Given the description of an element on the screen output the (x, y) to click on. 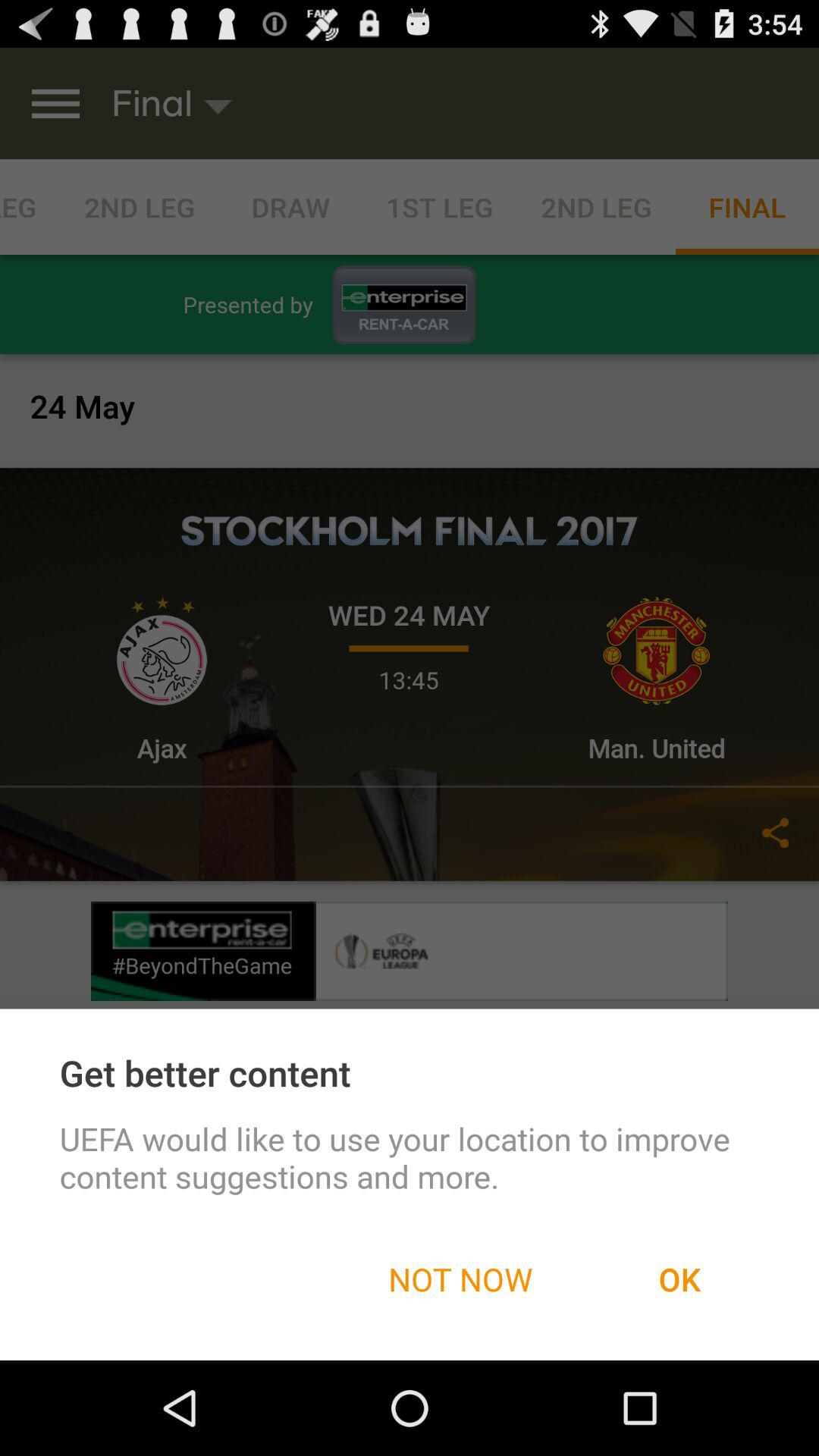
launch the not now item (460, 1278)
